Given the description of an element on the screen output the (x, y) to click on. 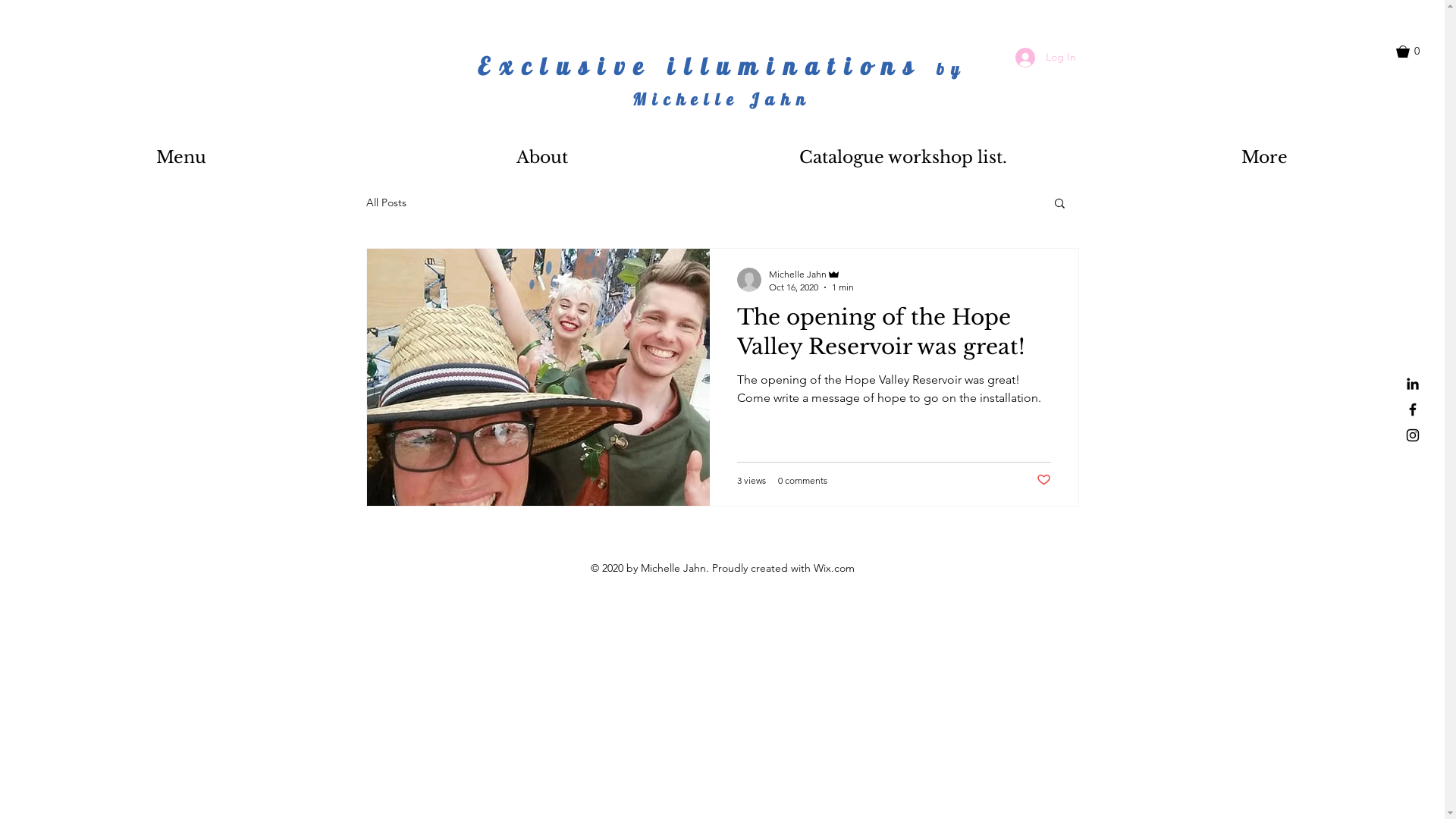
Menu Element type: text (180, 157)
The opening of the Hope Valley Reservoir was great! Element type: text (894, 335)
All Posts Element type: text (385, 202)
0 comments Element type: text (802, 480)
Post not marked as liked Element type: text (1042, 480)
Catalogue workshop list. Element type: text (902, 157)
Log In Element type: text (1044, 57)
Wix.com Element type: text (832, 567)
Michelle Jahn Element type: text (810, 273)
About Element type: text (541, 157)
Exclusive illuminations Element type: text (706, 65)
by Michelle Jahn Element type: text (799, 83)
